Given the description of an element on the screen output the (x, y) to click on. 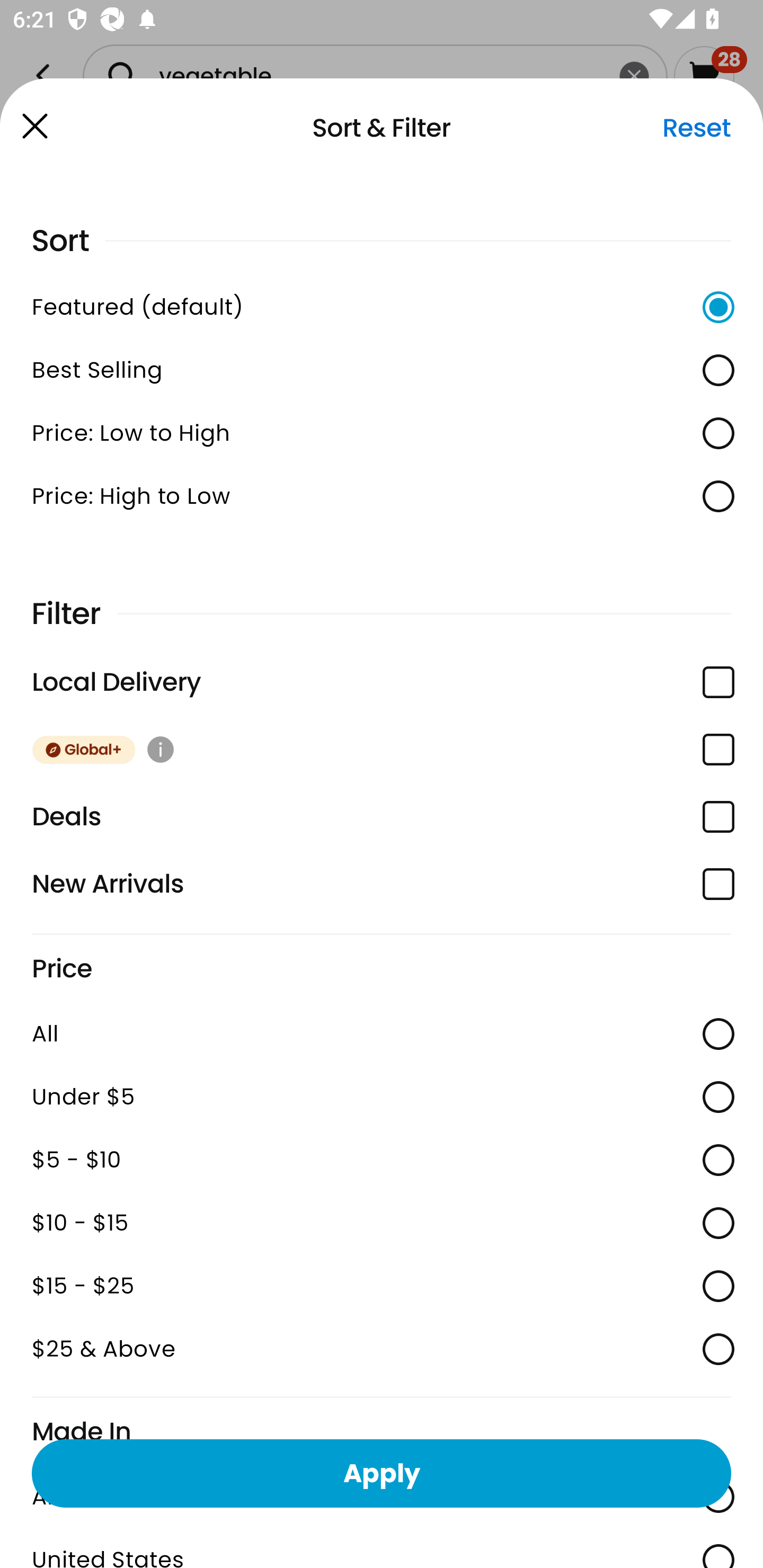
Reset (696, 127)
Apply (381, 1472)
